Given the description of an element on the screen output the (x, y) to click on. 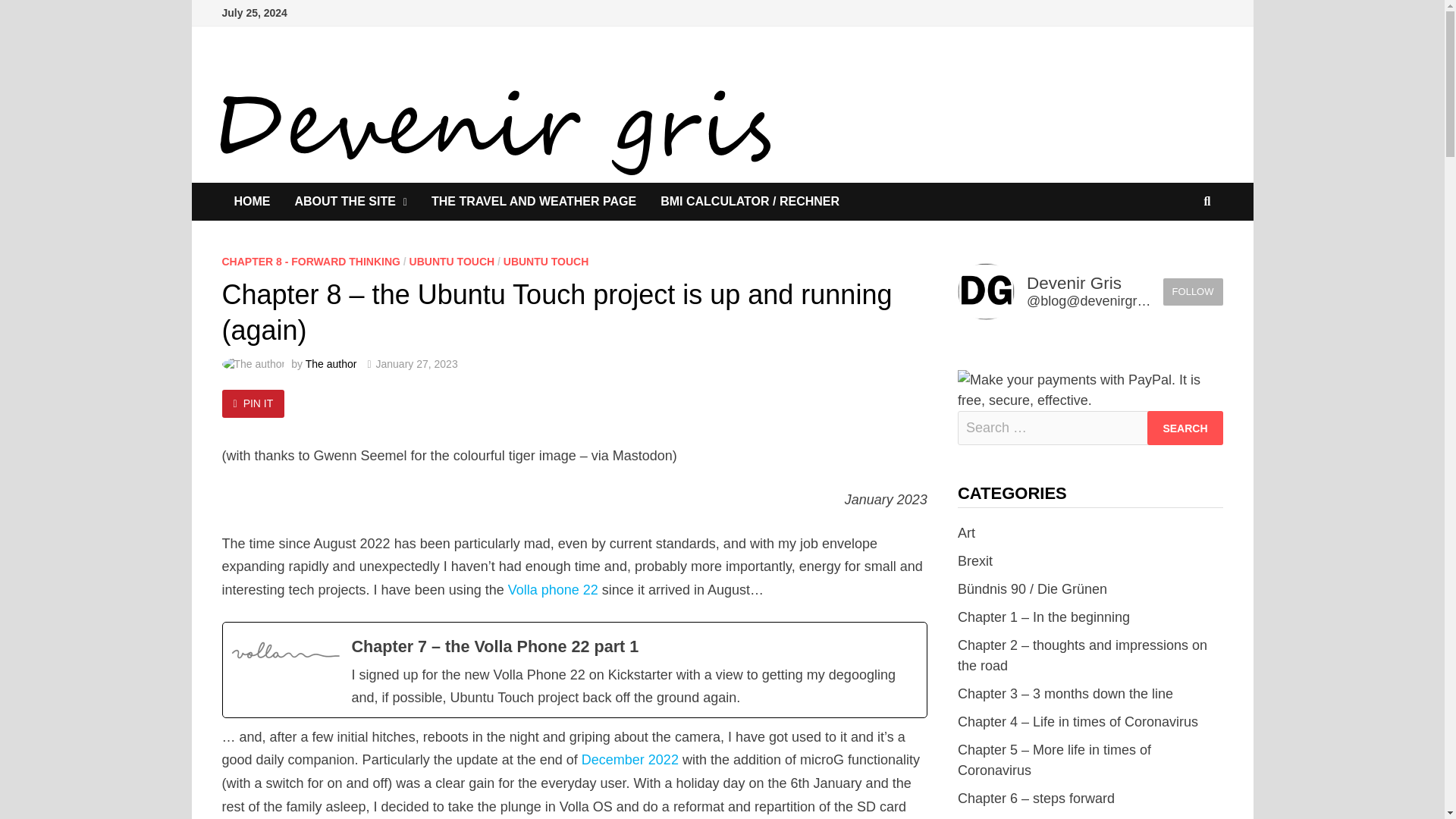
Chapter 7 - the Volla Phone 22 part 1 (574, 669)
UBUNTU TOUCH (546, 261)
ABOUT THE SITE (350, 201)
PIN IT (252, 403)
Volla phone 22 (553, 589)
Search (1185, 428)
The author (330, 363)
CHAPTER 8 - FORWARD THINKING (309, 261)
UBUNTU TOUCH (452, 261)
January 27, 2023 (416, 363)
HOME (251, 201)
Search (1185, 428)
THE TRAVEL AND WEATHER PAGE (533, 201)
